Given the description of an element on the screen output the (x, y) to click on. 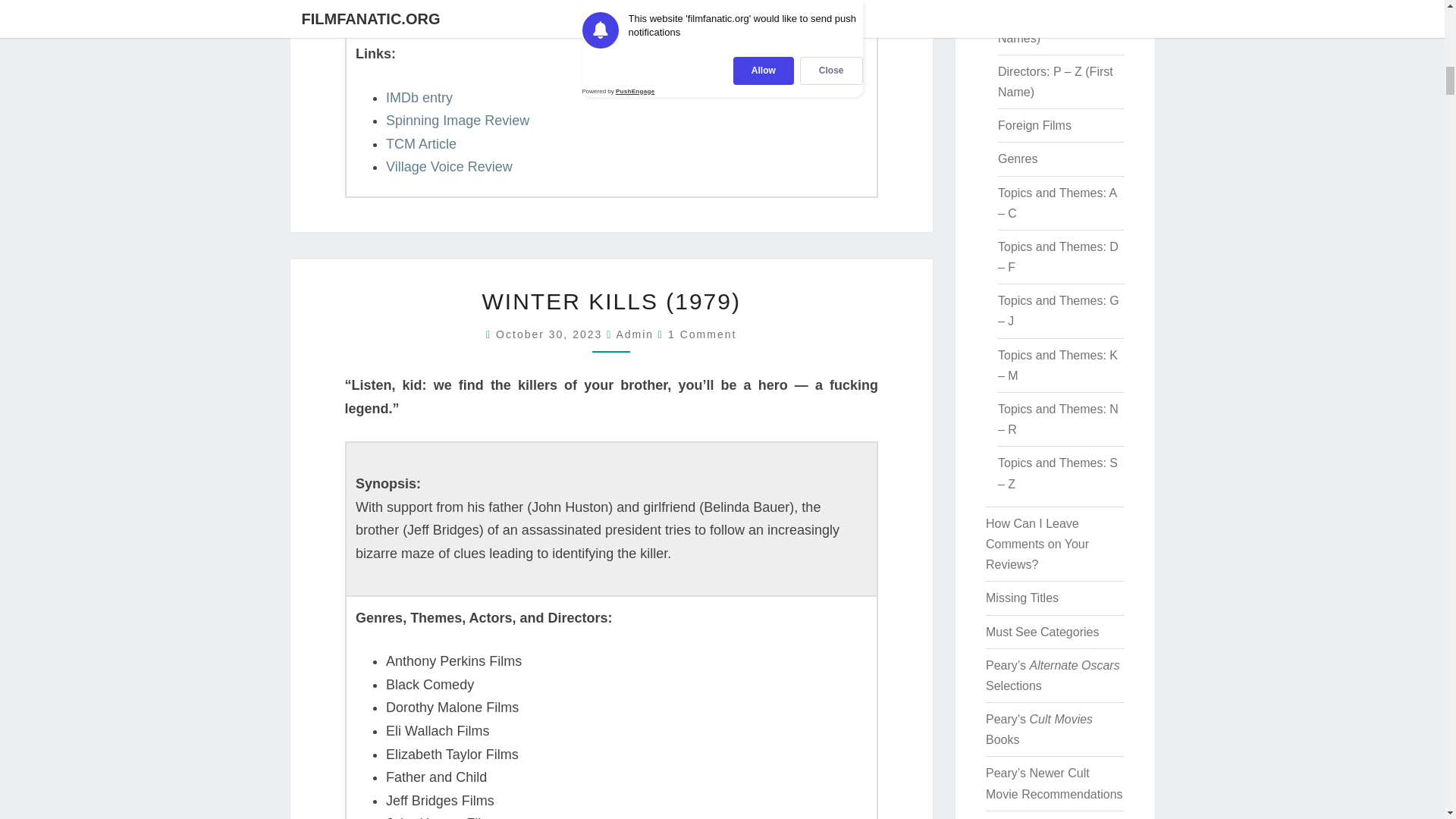
October 30, 2023 (551, 334)
Village Voice Review (448, 166)
Spinning Image Review (457, 120)
1 Comment (702, 334)
Admin (634, 334)
IMDb entry (418, 97)
TCM Article (421, 143)
View all posts by admin (634, 334)
10:56 am (551, 334)
